Given the description of an element on the screen output the (x, y) to click on. 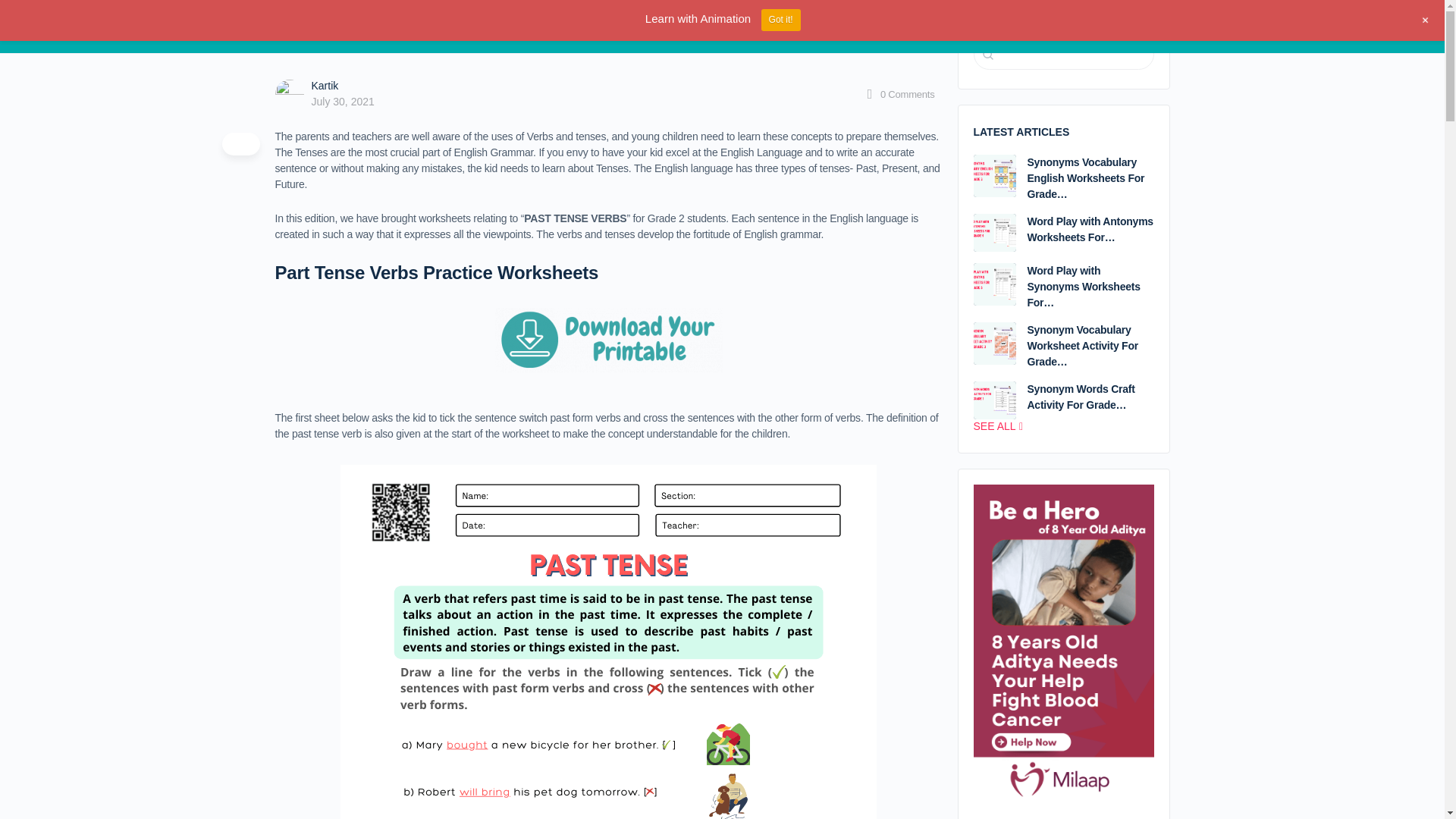
FREE Worksheets (515, 26)
Permalink to Word Play with Synonyms Worksheets For Grade 5 (995, 283)
Permalink to Word Play with Antonyms Worksheets For Grade 5 (995, 232)
Sign in (1144, 26)
Community (432, 26)
